Given the description of an element on the screen output the (x, y) to click on. 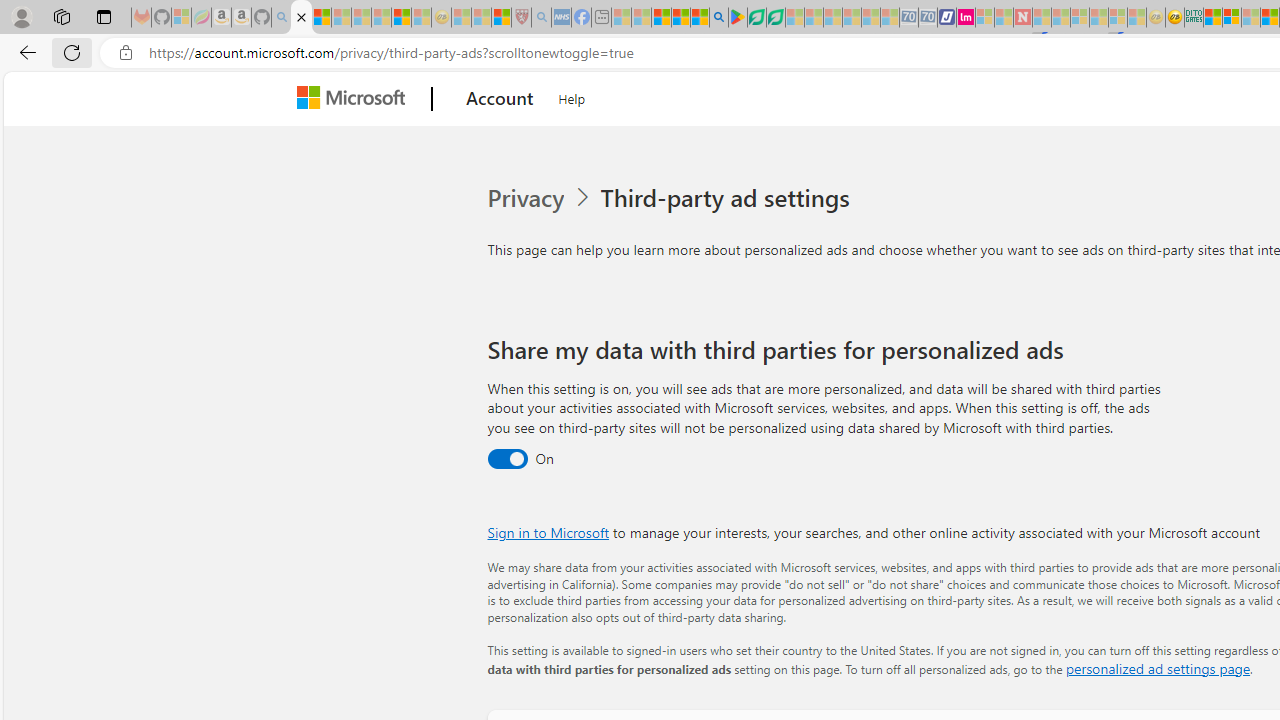
Bluey: Let's Play! - Apps on Google Play (737, 17)
Third party data sharing toggle (506, 459)
Sign in to Microsoft (548, 532)
